Given the description of an element on the screen output the (x, y) to click on. 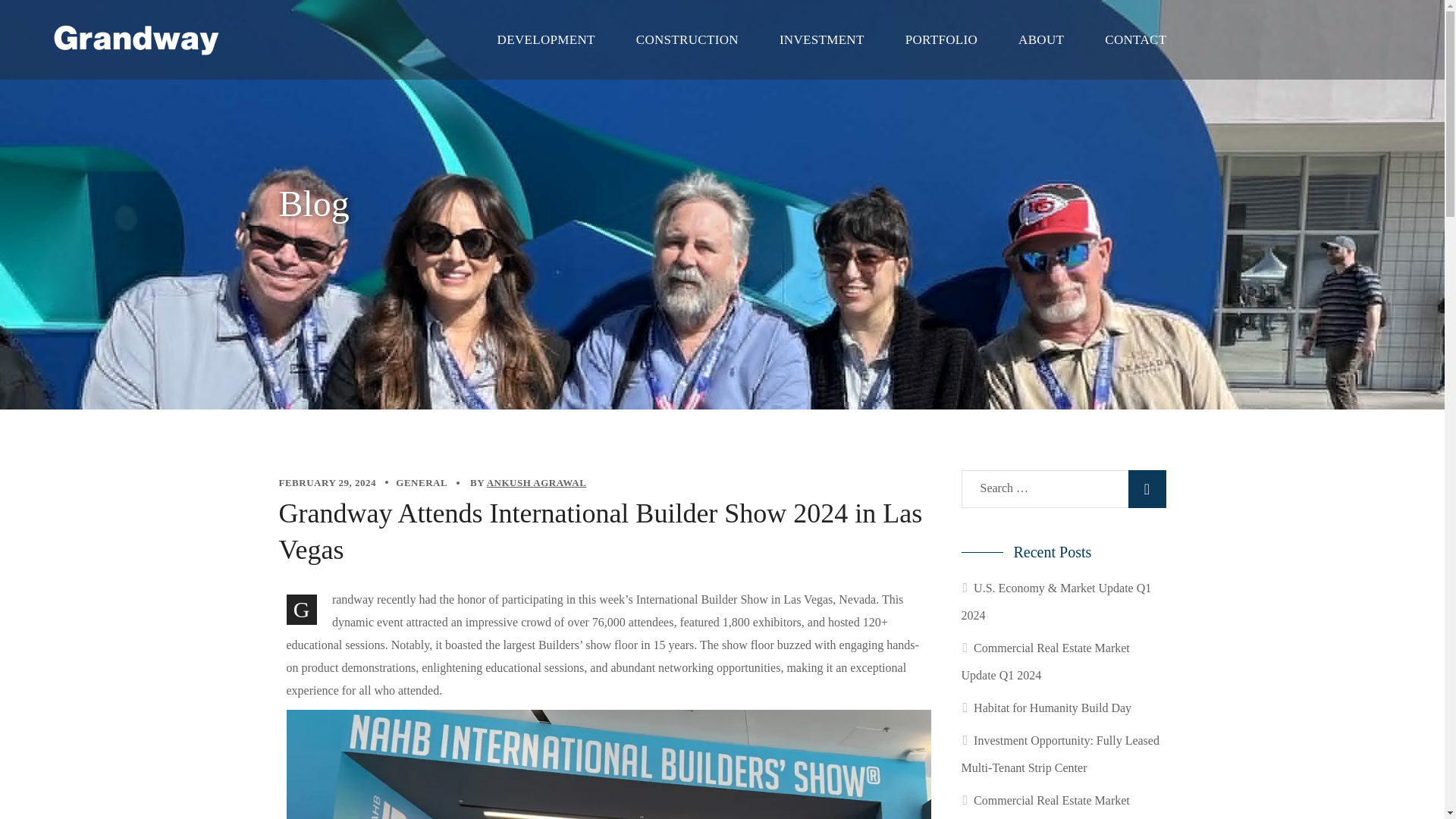
ABOUT (1040, 39)
ANKUSH AGRAWAL (536, 482)
CONSTRUCTION (686, 39)
PORTFOLIO (941, 39)
INVESTMENT (821, 39)
GENERAL (421, 483)
CONTACT (1135, 39)
DEVELOPMENT (546, 39)
